Given the description of an element on the screen output the (x, y) to click on. 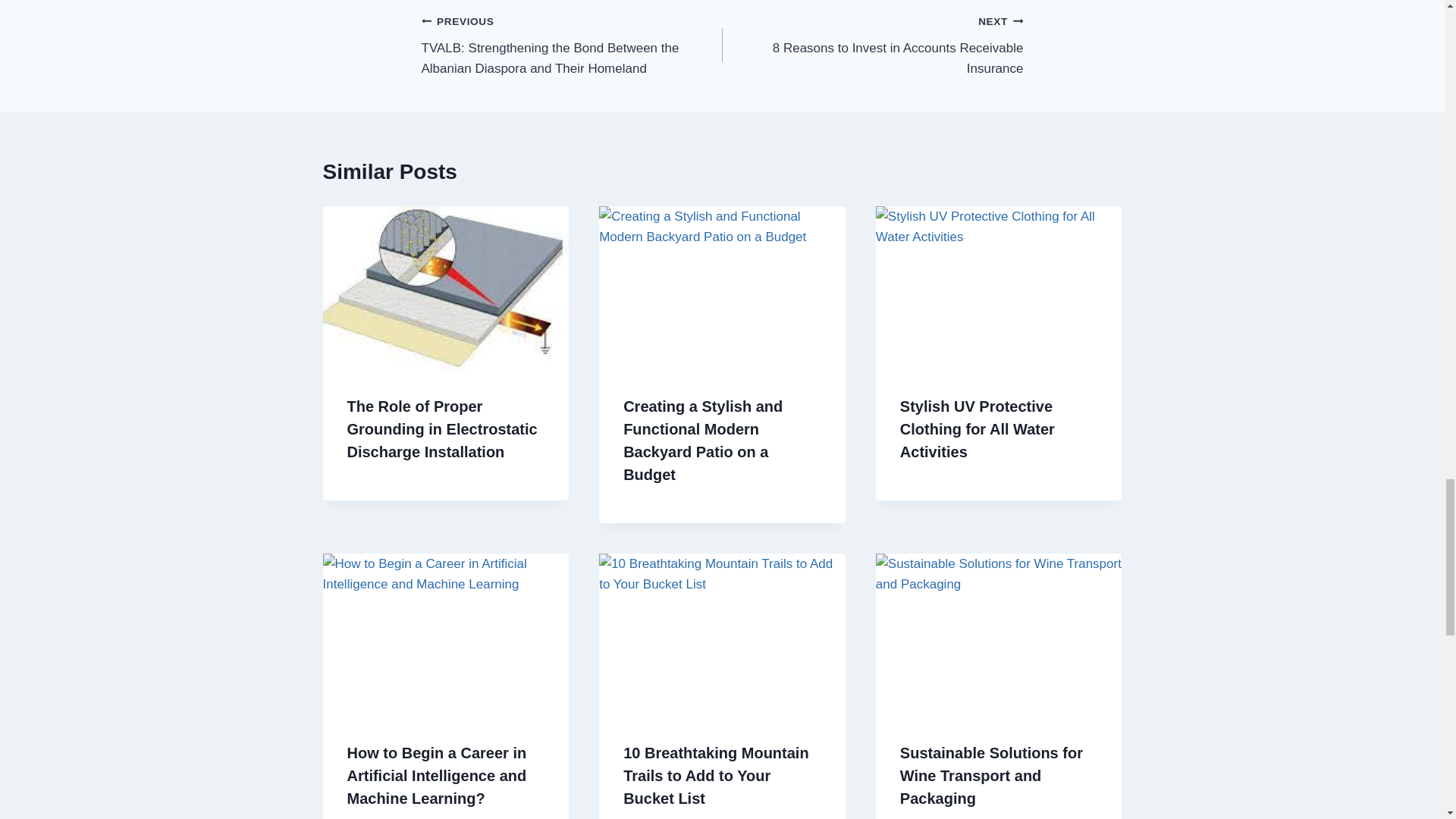
Stylish UV Protective Clothing for All Water Activities (976, 429)
10 Breathtaking Mountain Trails to Add to Your Bucket List (872, 44)
